Given the description of an element on the screen output the (x, y) to click on. 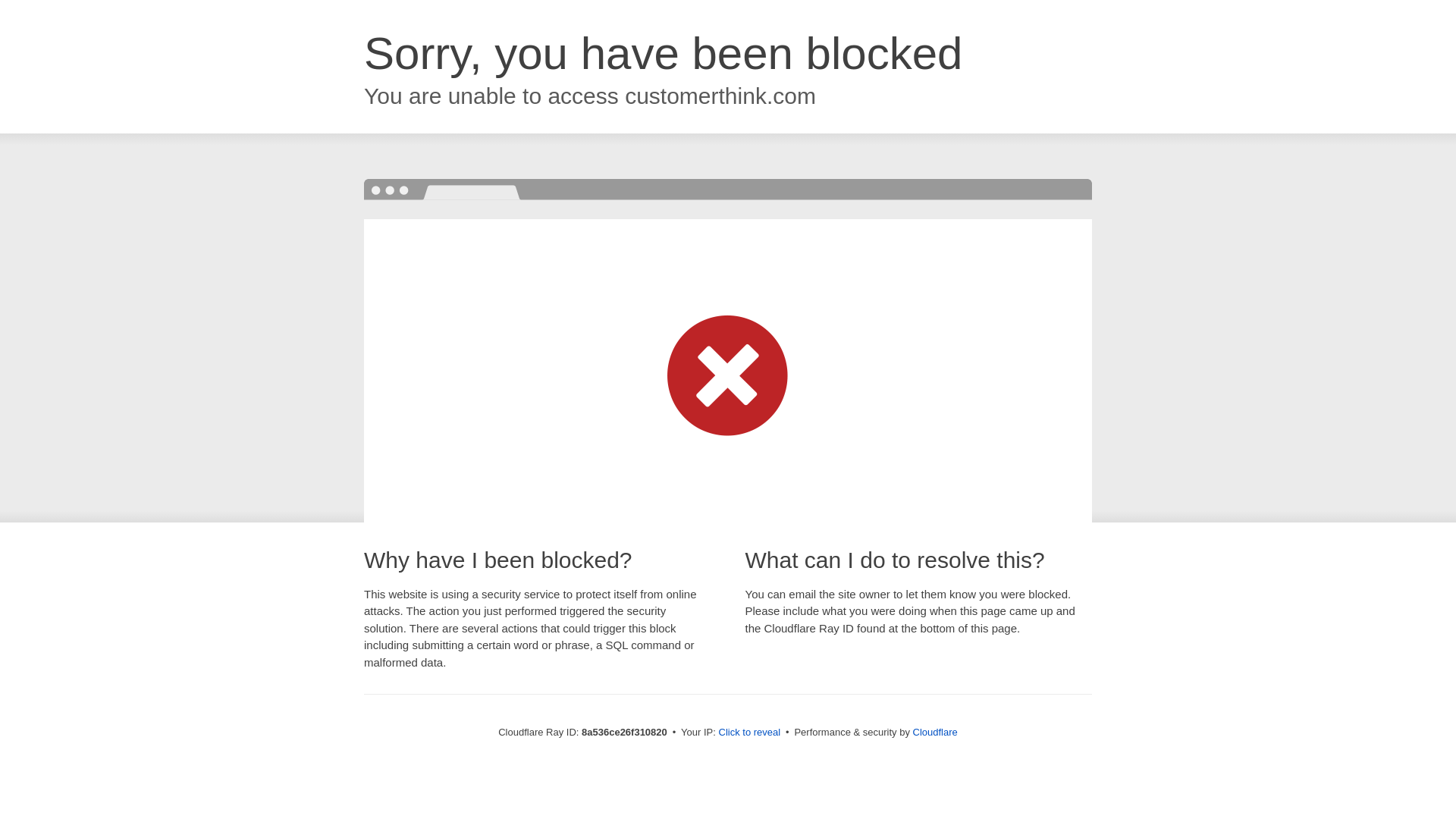
Cloudflare (935, 731)
Click to reveal (749, 732)
